Given the description of an element on the screen output the (x, y) to click on. 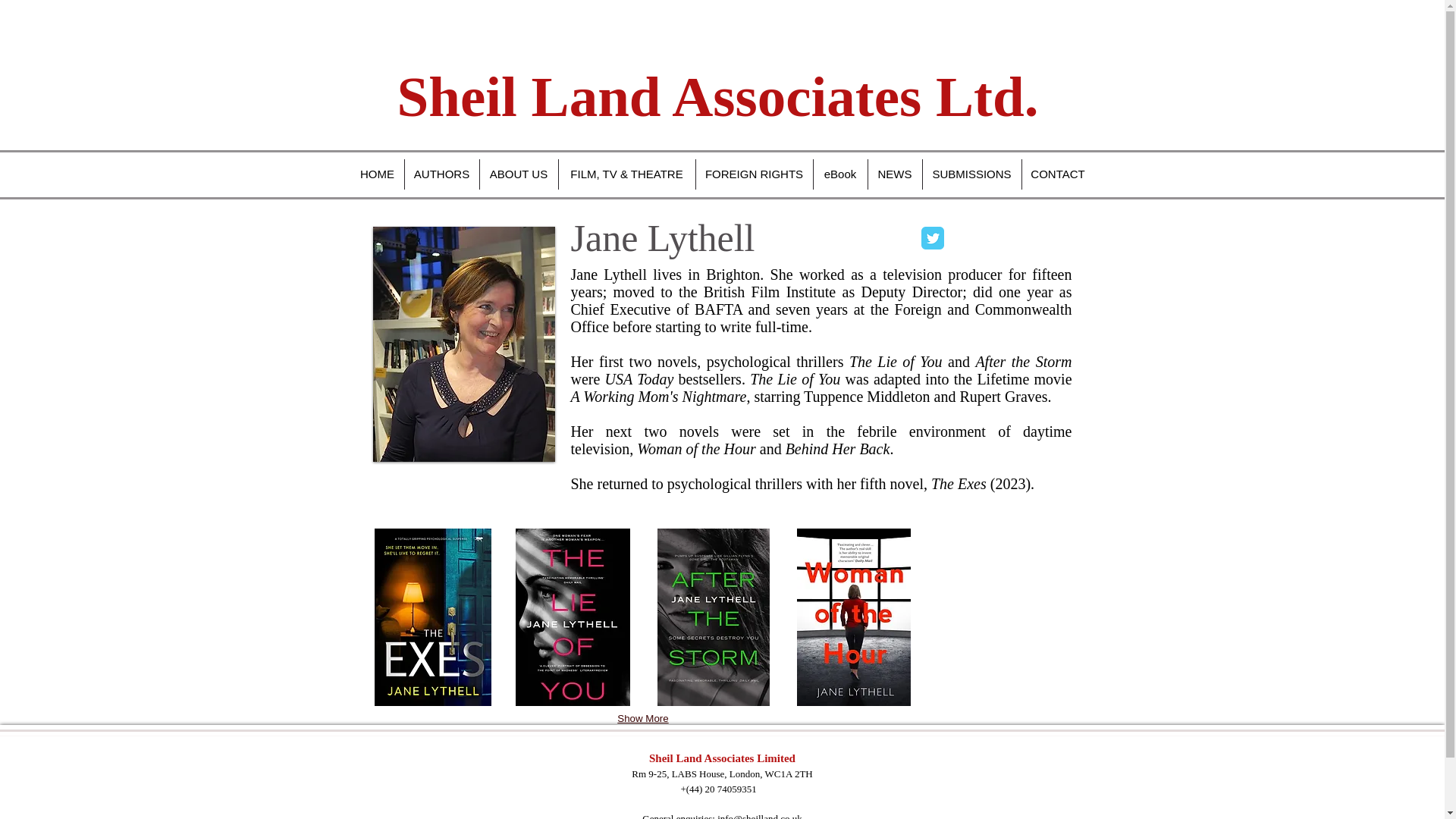
FOREIGN RIGHTS (753, 173)
SUBMISSIONS (970, 173)
eBook (839, 173)
ABOUT US (518, 173)
AUTHORS (441, 173)
CONTACT (1058, 173)
HOME (376, 173)
NEWS (894, 173)
Show More (642, 719)
Twitter Follow (982, 57)
